Given the description of an element on the screen output the (x, y) to click on. 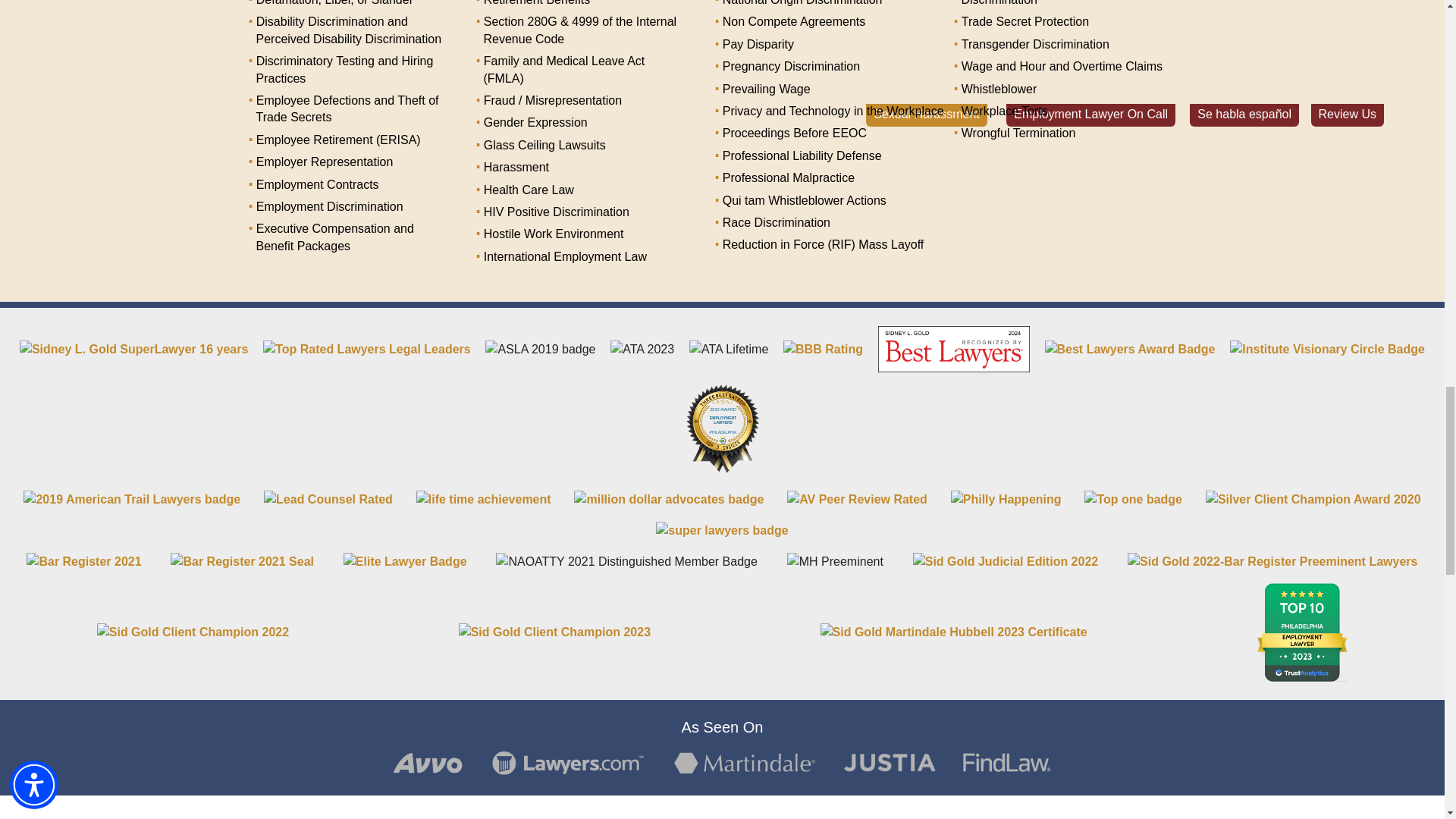
trustanalytica (1302, 631)
Best Lawyers - Lawyer Logo (953, 348)
View Profile (405, 560)
